Given the description of an element on the screen output the (x, y) to click on. 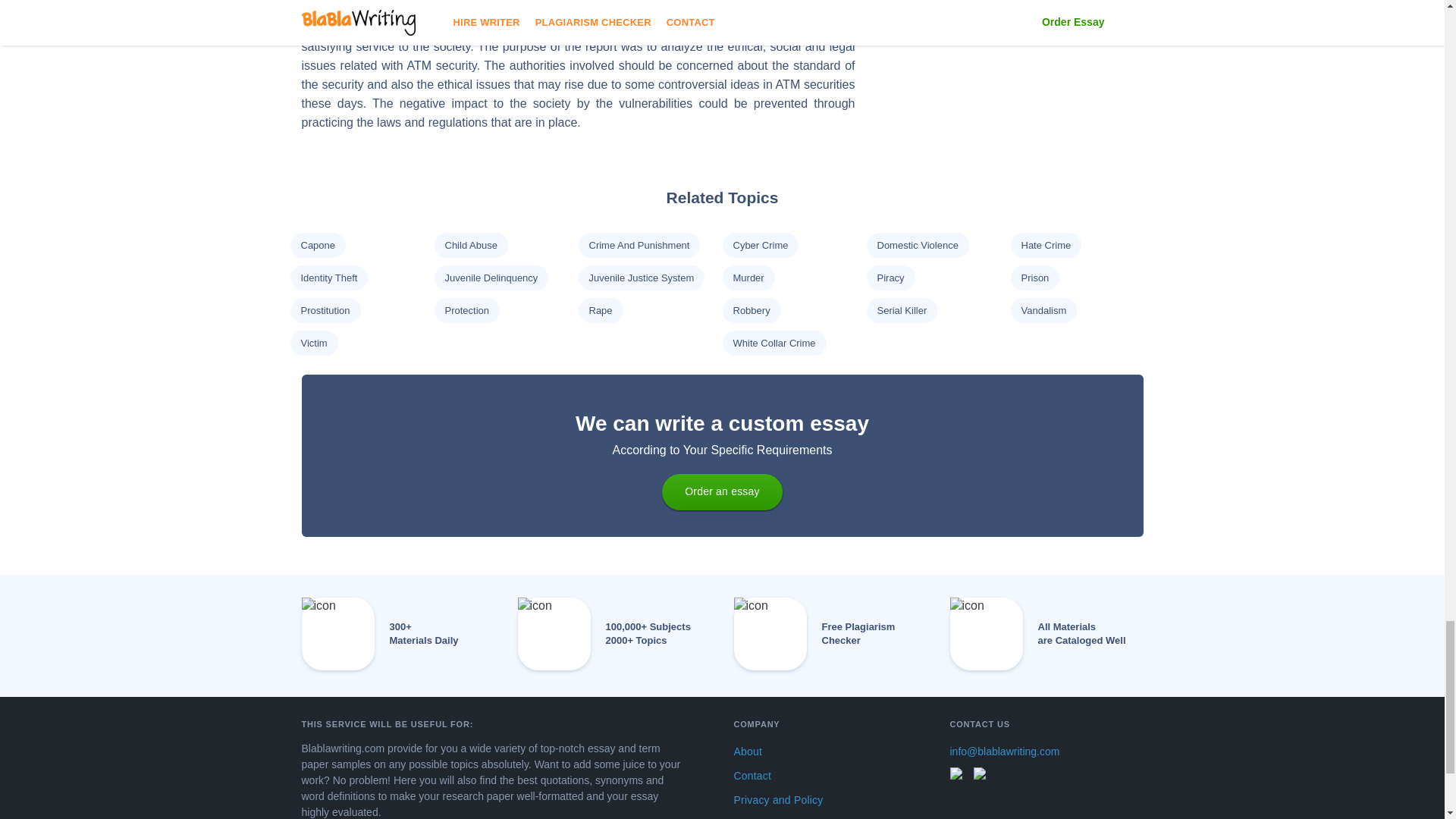
Cyber Crime (759, 244)
Juvenile Justice System (641, 277)
Hate Crime (1045, 244)
Domestic Violence (917, 244)
Capone (316, 244)
Identity Theft (327, 277)
Crime And Punishment (638, 244)
Juvenile Delinquency (490, 277)
Child Abuse (470, 244)
